Given the description of an element on the screen output the (x, y) to click on. 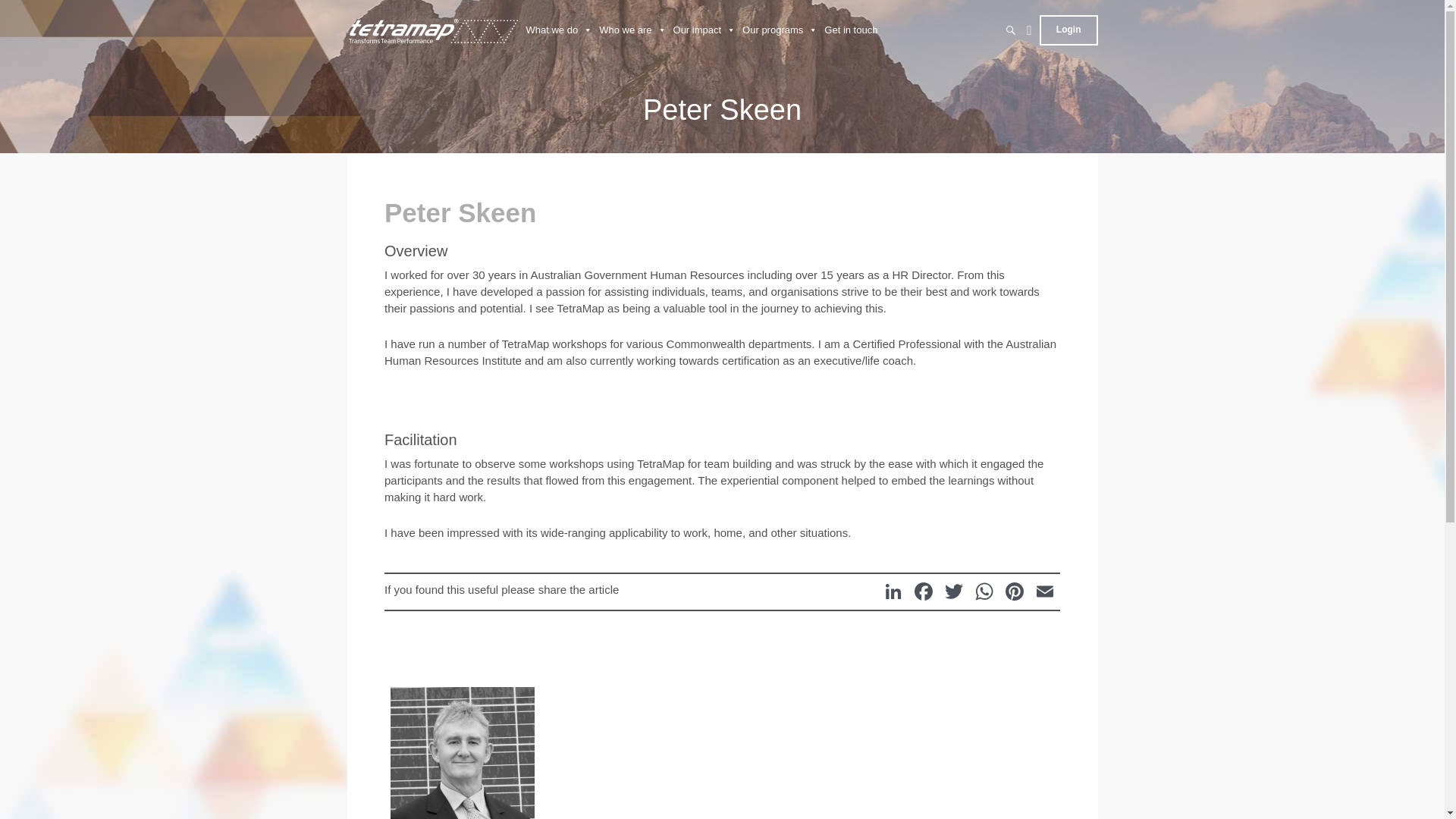
Our programs (779, 30)
What we do (558, 30)
Pinterest (1013, 592)
Email (1044, 592)
Twitter (954, 592)
Facebook (923, 592)
Who we are (631, 30)
WhatsApp (983, 592)
Our impact (704, 30)
LinkedIn (892, 592)
